Given the description of an element on the screen output the (x, y) to click on. 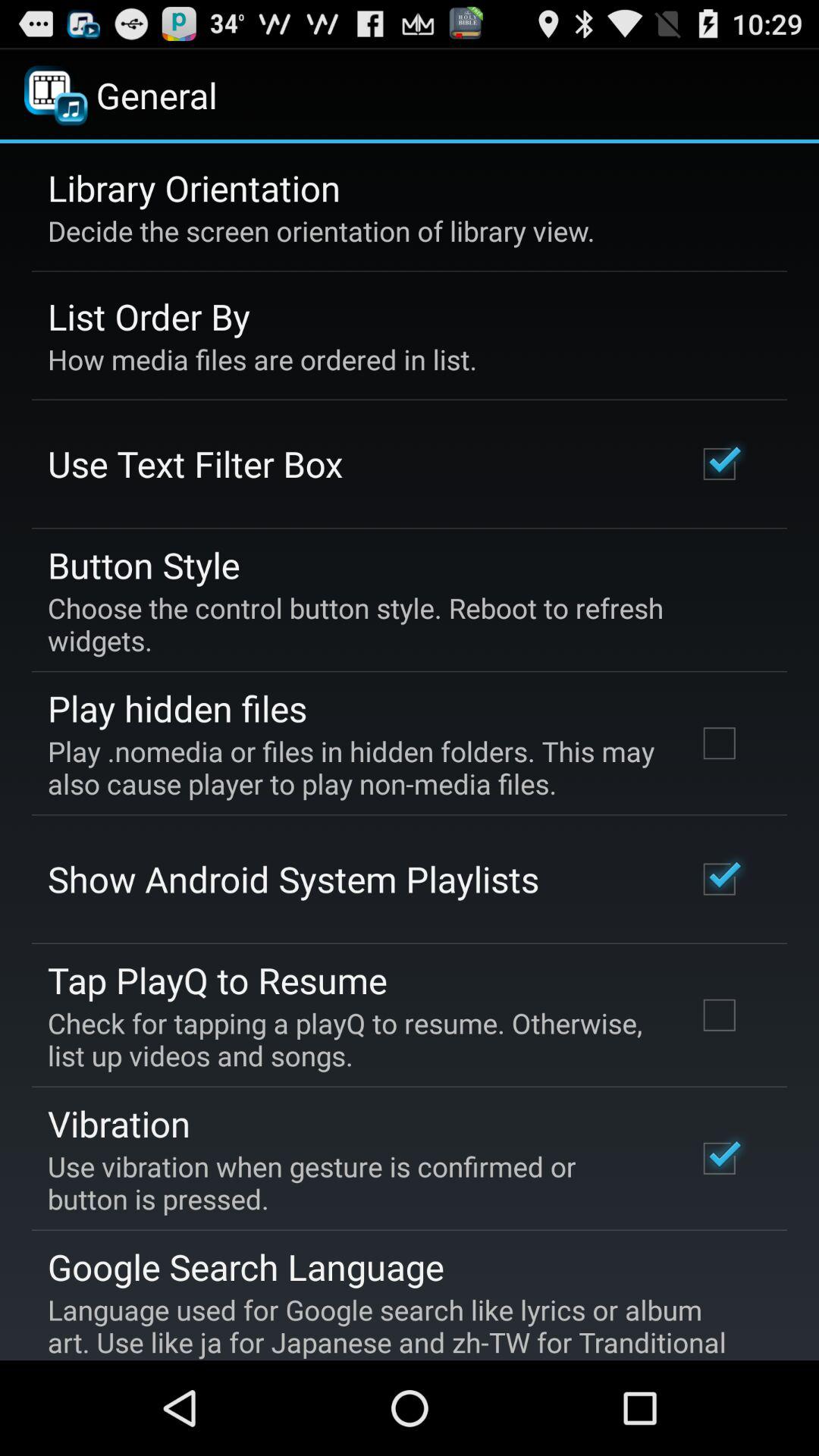
scroll until the decide the screen icon (320, 230)
